Given the description of an element on the screen output the (x, y) to click on. 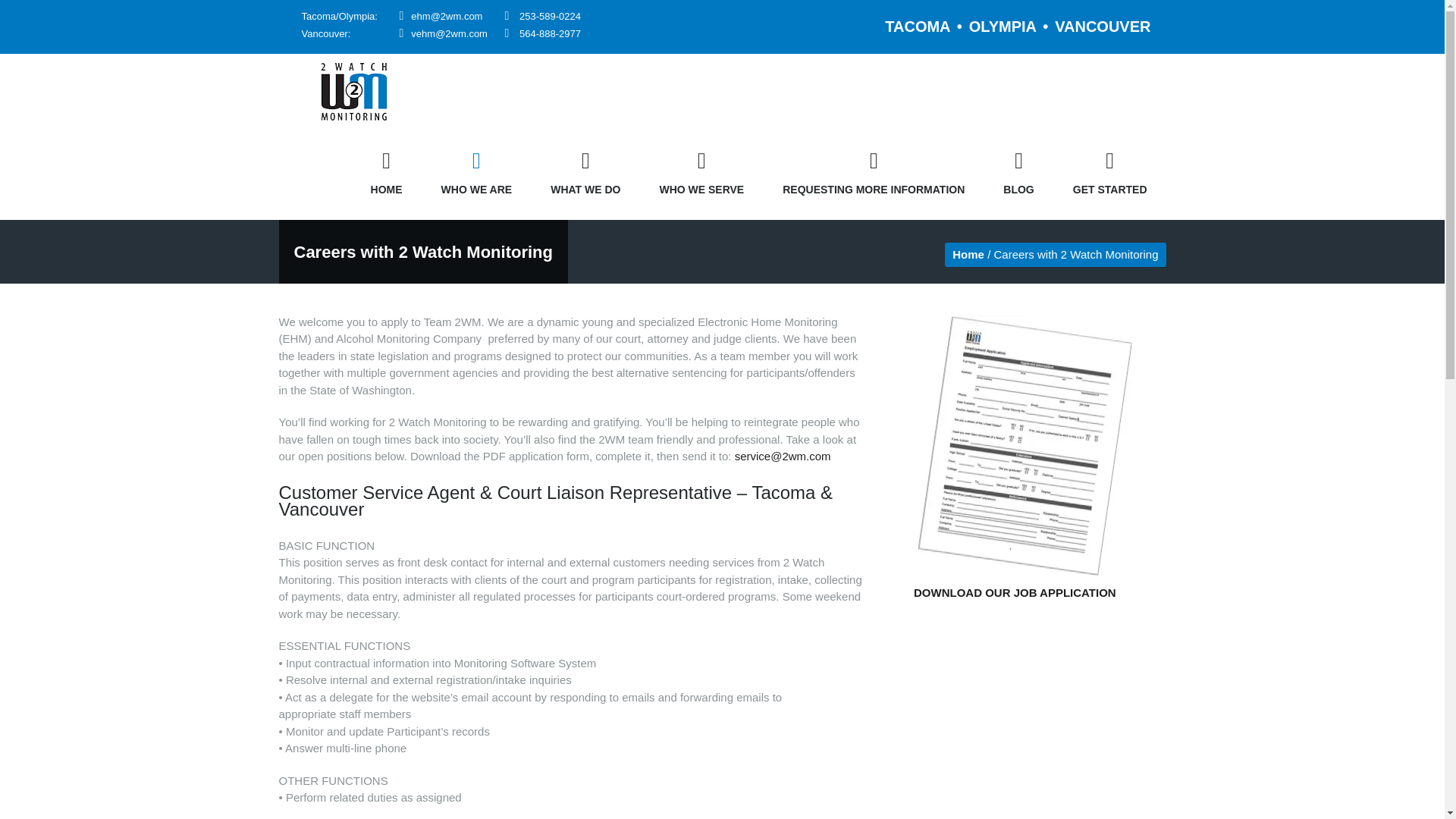
253-589-0224 (549, 16)
564-888-2977 (549, 33)
DOWNLOAD OUR JOB APPLICATION (1015, 592)
VANCOUVER (1102, 26)
TACOMA (917, 26)
GET STARTED (1110, 173)
REQUESTING MORE INFORMATION (873, 173)
OLYMPIA (1002, 26)
Home (968, 253)
